Given the description of an element on the screen output the (x, y) to click on. 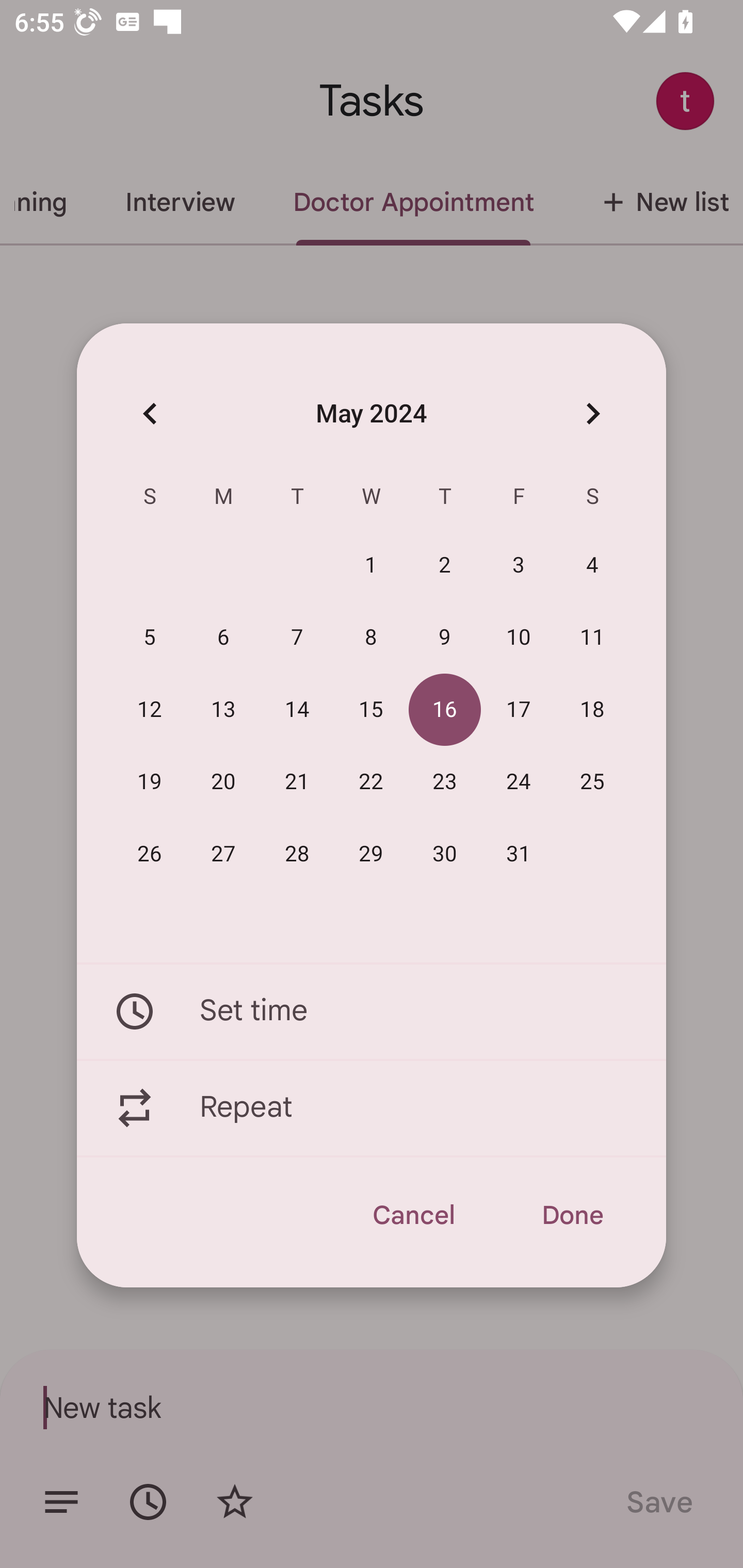
Previous month (149, 413)
Next month (592, 413)
1 01 May 2024 (370, 565)
2 02 May 2024 (444, 565)
3 03 May 2024 (518, 565)
4 04 May 2024 (592, 565)
5 05 May 2024 (149, 638)
6 06 May 2024 (223, 638)
7 07 May 2024 (297, 638)
8 08 May 2024 (370, 638)
9 09 May 2024 (444, 638)
10 10 May 2024 (518, 638)
11 11 May 2024 (592, 638)
12 12 May 2024 (149, 710)
13 13 May 2024 (223, 710)
14 14 May 2024 (297, 710)
15 15 May 2024 (370, 710)
16 16 May 2024 (444, 710)
17 17 May 2024 (518, 710)
18 18 May 2024 (592, 710)
19 19 May 2024 (149, 782)
20 20 May 2024 (223, 782)
21 21 May 2024 (297, 782)
22 22 May 2024 (370, 782)
23 23 May 2024 (444, 782)
24 24 May 2024 (518, 782)
25 25 May 2024 (592, 782)
26 26 May 2024 (149, 854)
27 27 May 2024 (223, 854)
28 28 May 2024 (297, 854)
29 29 May 2024 (370, 854)
30 30 May 2024 (444, 854)
31 31 May 2024 (518, 854)
Set time (371, 1011)
Repeat (371, 1108)
Cancel (412, 1215)
Done (571, 1215)
